Given the description of an element on the screen output the (x, y) to click on. 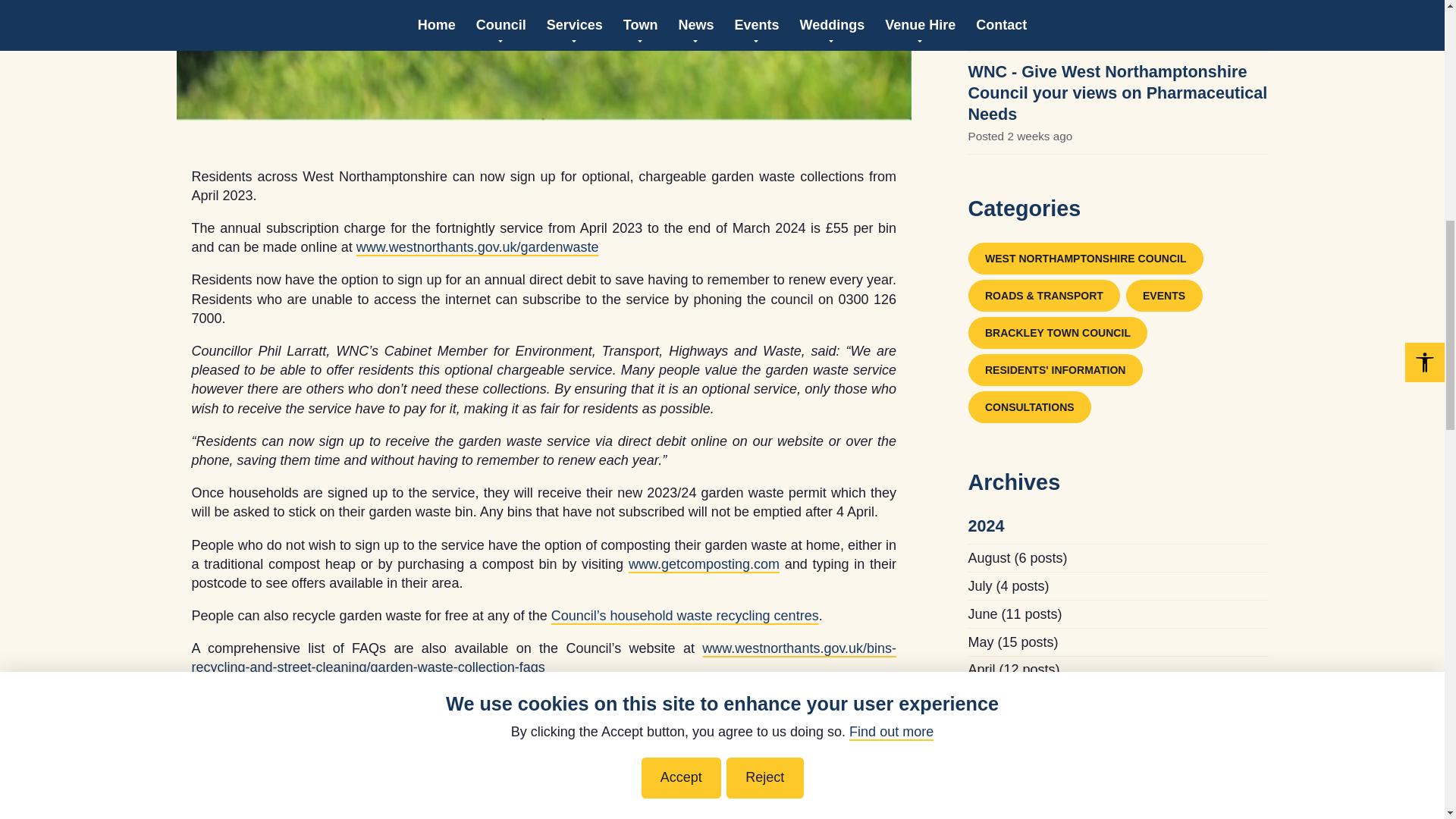
WEST NORTHAMPTONSHIRE COUNCIL (1085, 258)
CONSULTATIONS (1029, 407)
Essential Tree Works (1050, 10)
BRACKLEY TOWN COUNCIL (1057, 332)
Events (1163, 296)
West Northamptonshire Council (1085, 258)
recycling centres (684, 615)
Essential Tree Works (1050, 10)
EVENTS (1163, 296)
